Given the description of an element on the screen output the (x, y) to click on. 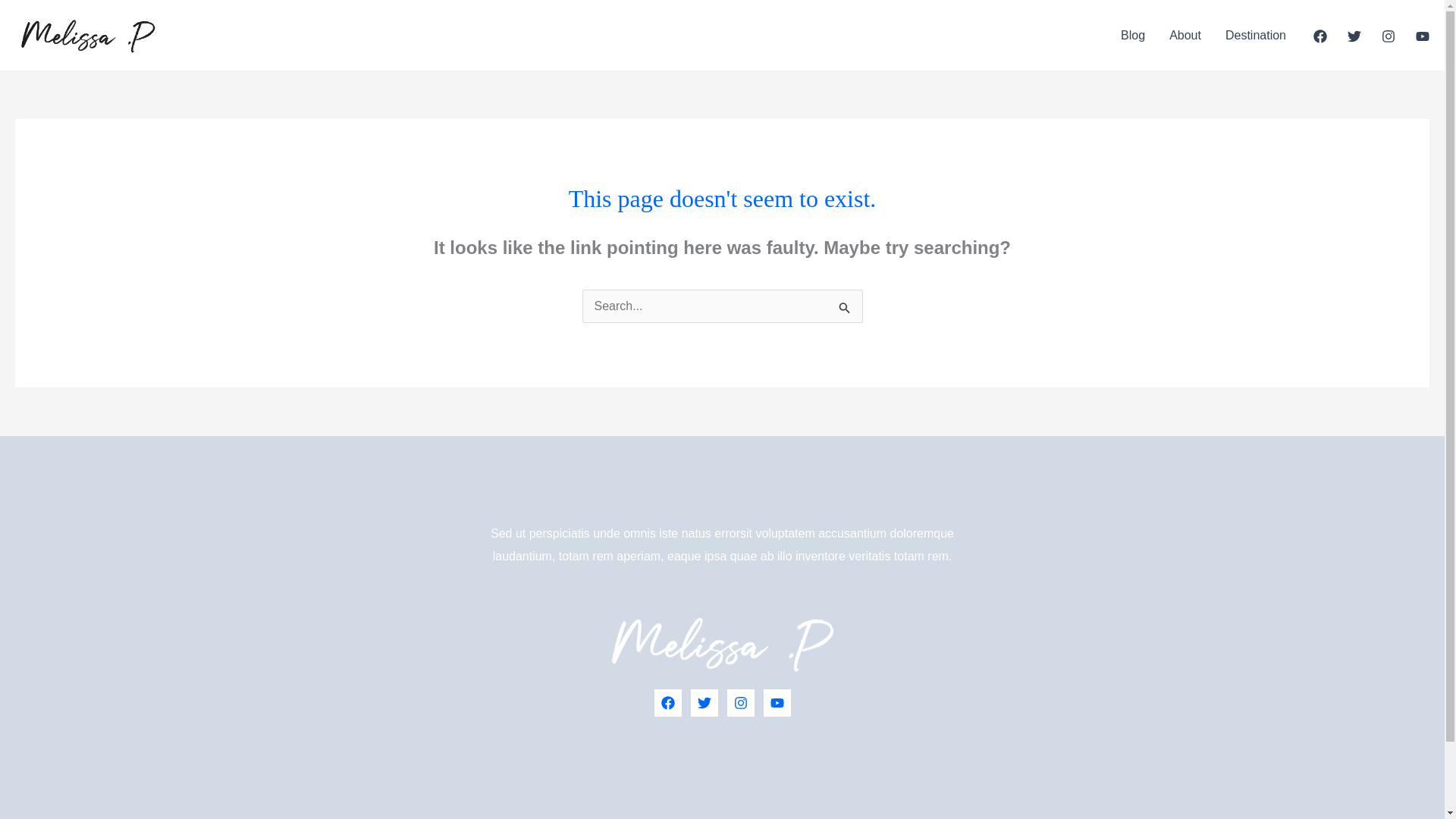
Destination (1255, 35)
About (1184, 35)
Blog (1132, 35)
